Given the description of an element on the screen output the (x, y) to click on. 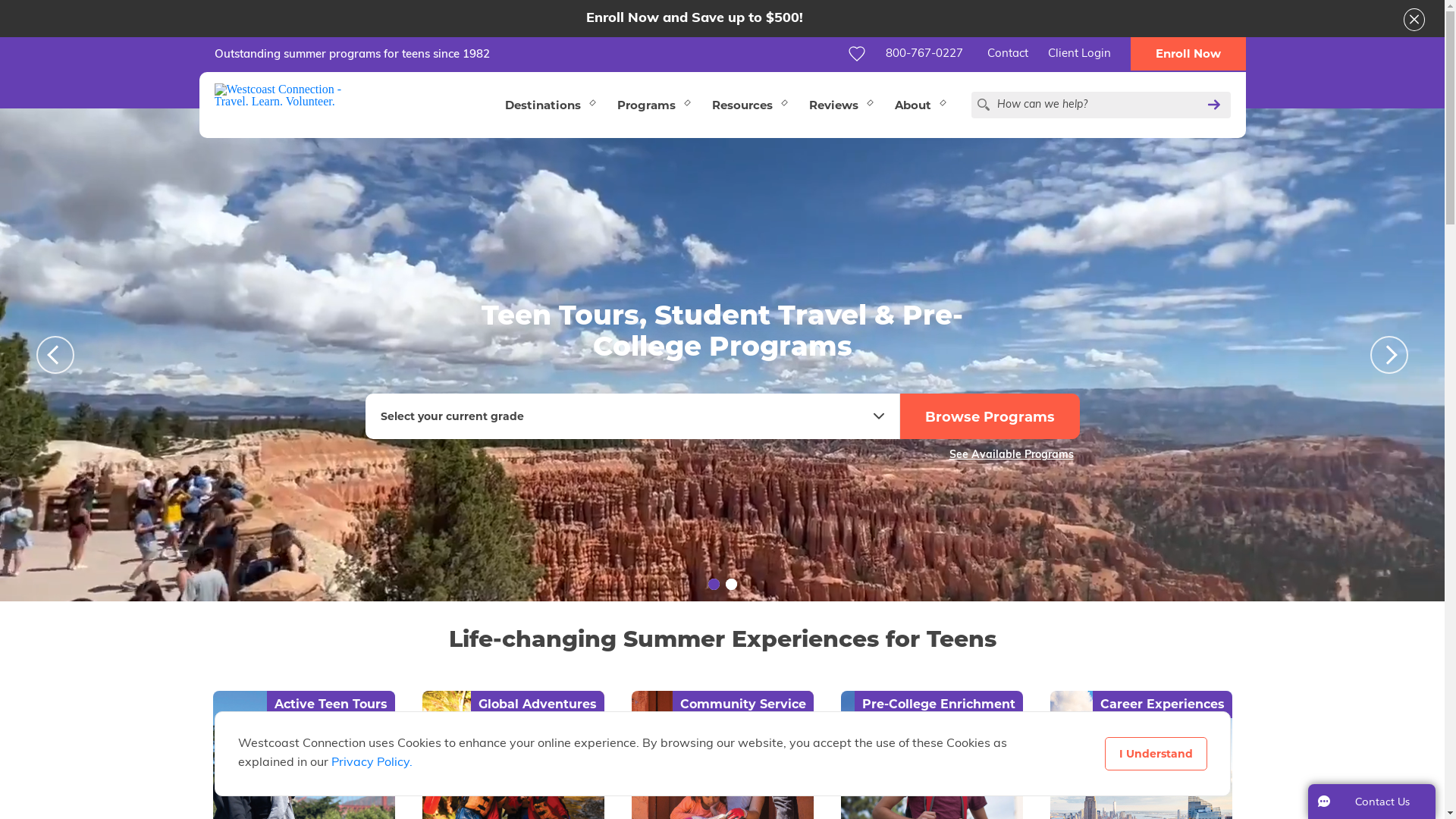
Privacy Policy. Element type: text (370, 762)
Programs Element type: text (652, 105)
Resources Element type: text (748, 105)
Contact Element type: text (1006, 53)
2 Element type: text (730, 583)
Previous Element type: text (55, 354)
Enroll Now and Save up to $500! Element type: text (693, 18)
Reviews Element type: text (840, 105)
Client Login Element type: text (1078, 53)
Next Element type: text (1389, 354)
Select your current grade Element type: text (632, 416)
About Element type: text (918, 105)
I Understand Element type: text (1155, 753)
Browse Programs Element type: text (989, 416)
Return to the Homepage Element type: hover (283, 95)
Enroll Now Element type: text (1187, 53)
800-767-0227 Element type: text (925, 53)
Destinations Element type: text (548, 105)
See Available Programs Element type: text (1014, 450)
1 Element type: text (713, 583)
